Given the description of an element on the screen output the (x, y) to click on. 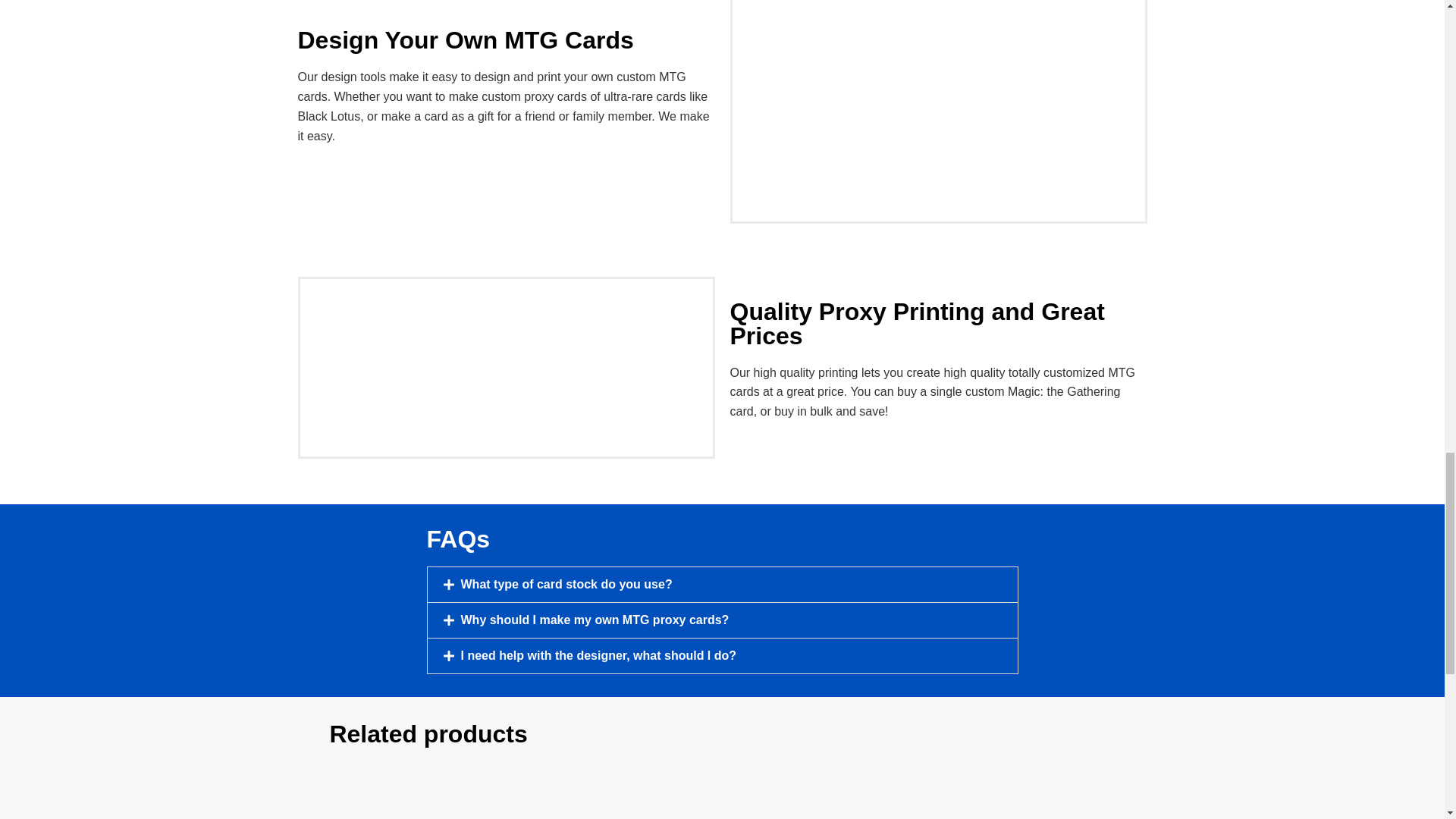
What type of card stock do you use? (566, 584)
I need help with the designer, what should I do? (598, 655)
Why should I make my own MTG proxy cards? (595, 619)
